Given the description of an element on the screen output the (x, y) to click on. 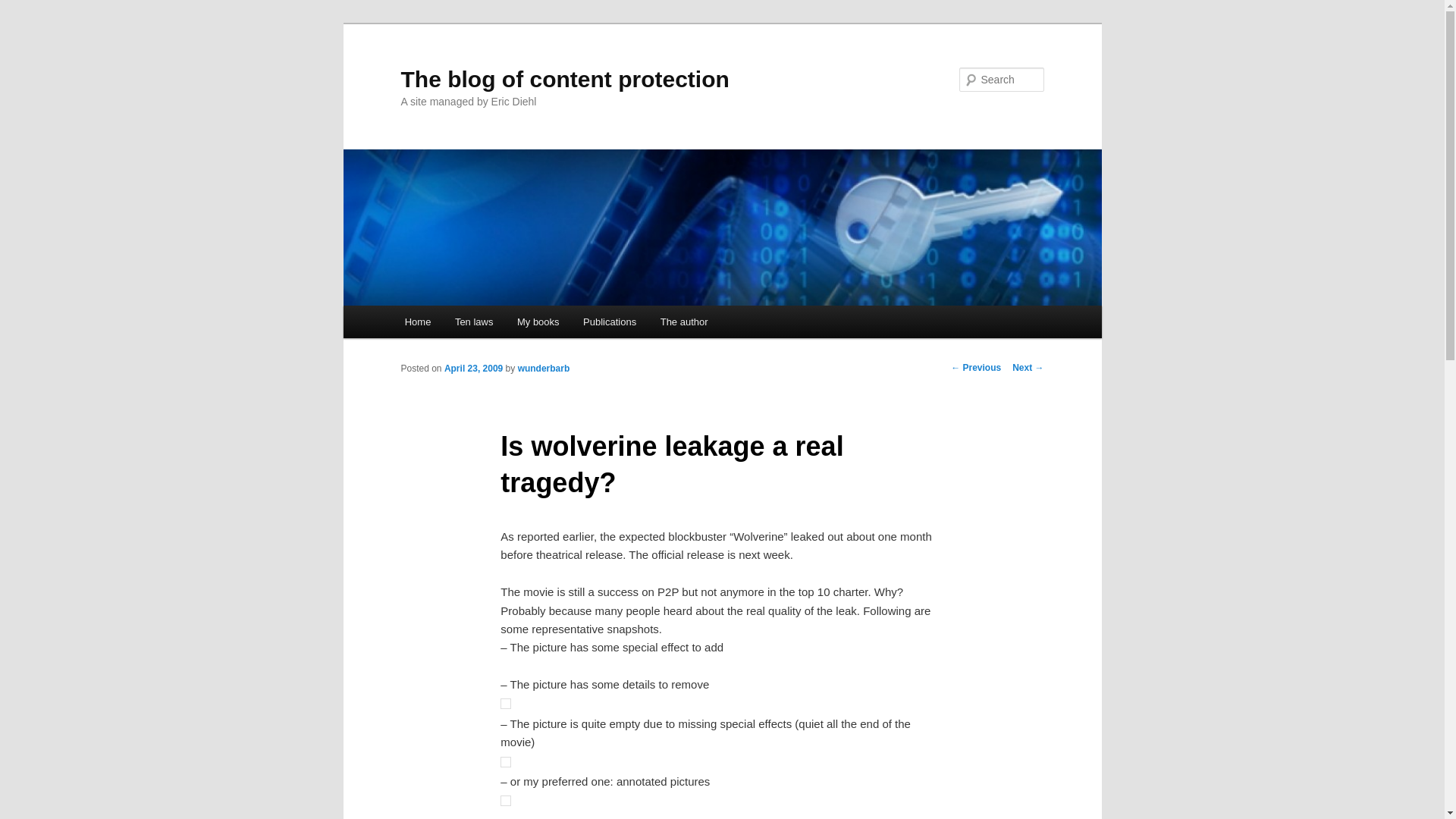
My books (537, 321)
Ten laws (473, 321)
16:53 (473, 368)
vlcsnap-115677 (505, 761)
The author (683, 321)
vlcsnap-268629 (505, 800)
Home (417, 321)
The blog of content protection (564, 78)
Search (24, 8)
